Given the description of an element on the screen output the (x, y) to click on. 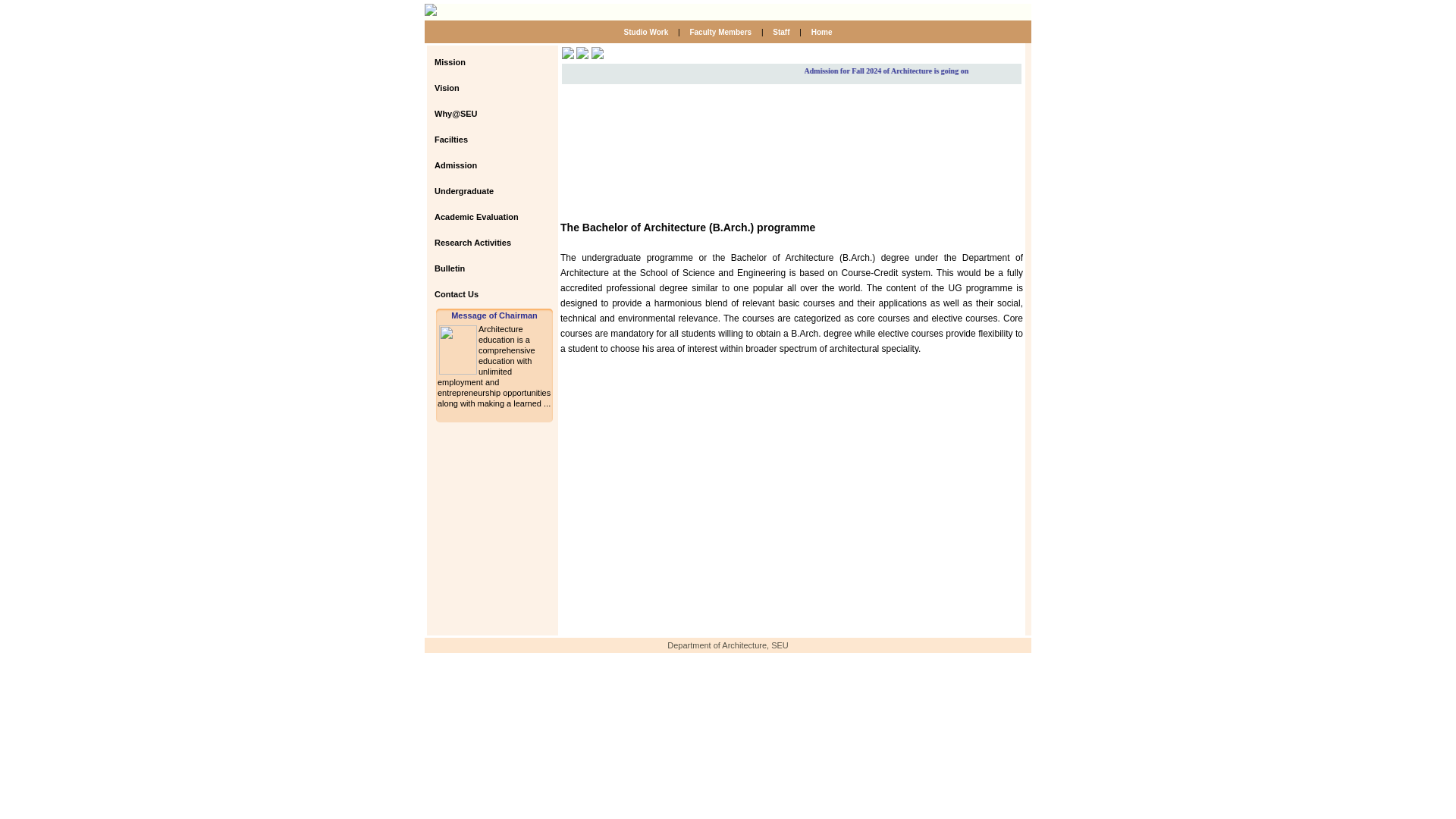
Faculty Members (720, 31)
Home (821, 31)
Studio Work (646, 31)
Vision (478, 87)
Academic Evaluation (478, 216)
Bulletin (478, 267)
Admission (478, 164)
Undergraduate (478, 190)
Facilties (478, 139)
